Given the description of an element on the screen output the (x, y) to click on. 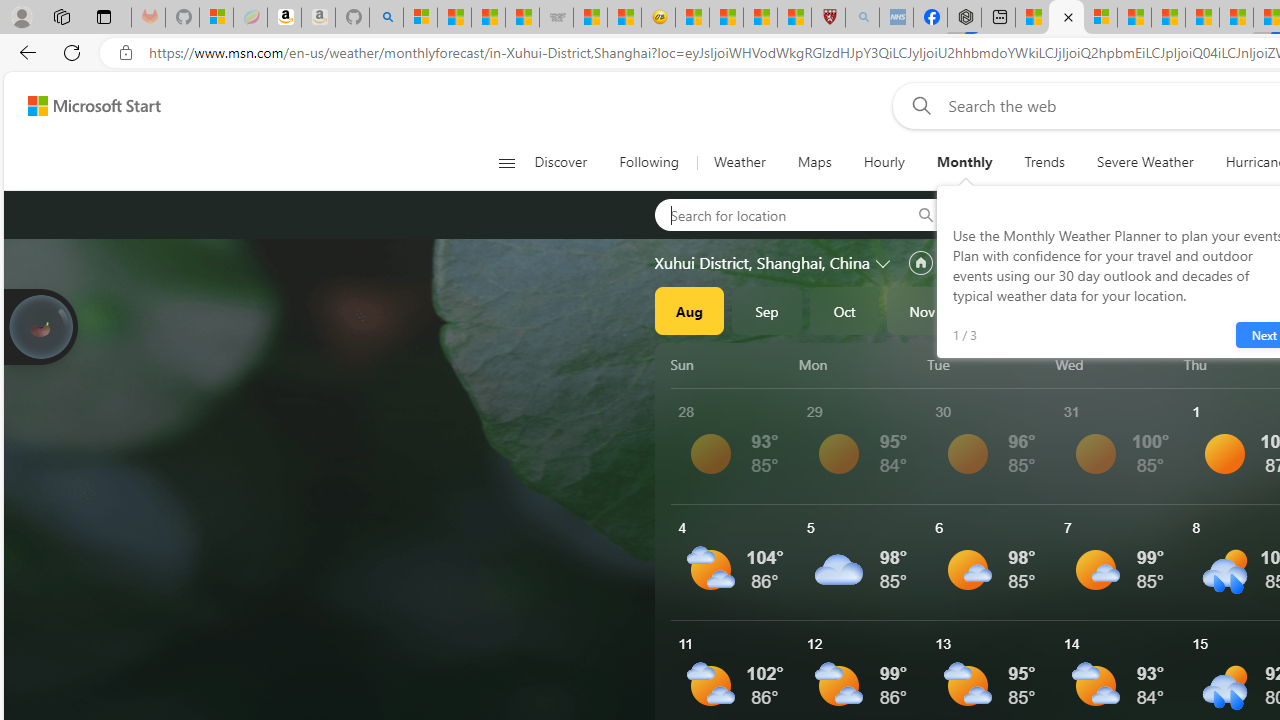
12 Popular Science Lies that Must be Corrected (794, 17)
Aberdeen (1022, 214)
Nov (922, 310)
Xuhui District, Shanghai, China (762, 263)
Join us in planting real trees to help our planet! (40, 327)
Robert H. Shmerling, MD - Harvard Health (827, 17)
Weather (738, 162)
